Given the description of an element on the screen output the (x, y) to click on. 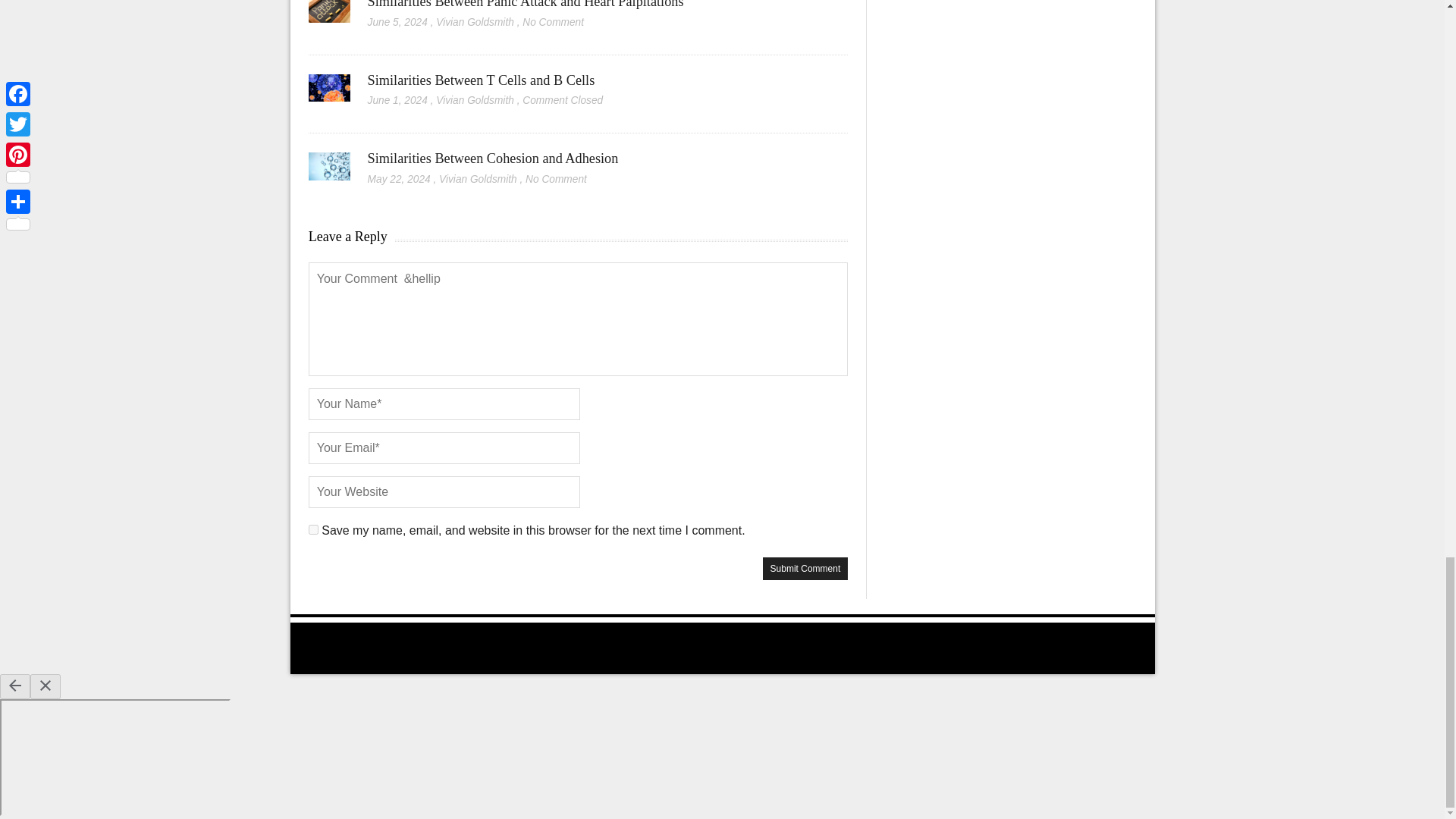
Similarities Between Panic Attack and Heart Palpitations (526, 4)
Vivian Goldsmith (474, 21)
Posts by Vivian Goldsmith (474, 21)
Submit Comment (805, 568)
Similarities Between T Cells and B Cells (481, 79)
Vivian Goldsmith (474, 100)
No Comment (552, 21)
yes (313, 529)
Similarities Between Panic Attack and Heart Palpitations (329, 18)
Similarities Between Panic Attack and Heart Palpitations (526, 4)
